Given the description of an element on the screen output the (x, y) to click on. 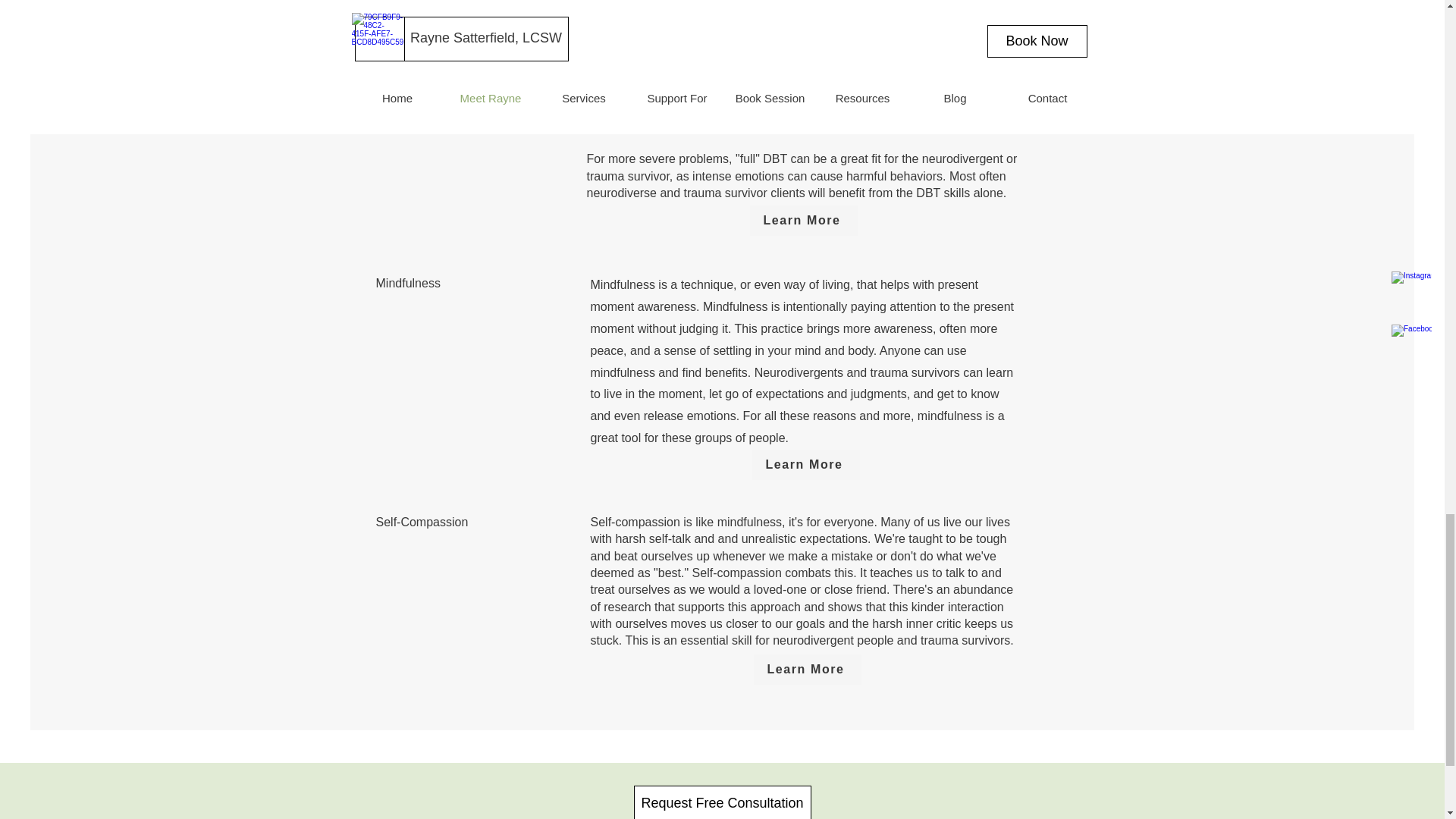
Request Free Consultation (721, 802)
Learn More (806, 464)
Learn More (803, 220)
Learn More (807, 669)
